Given the description of an element on the screen output the (x, y) to click on. 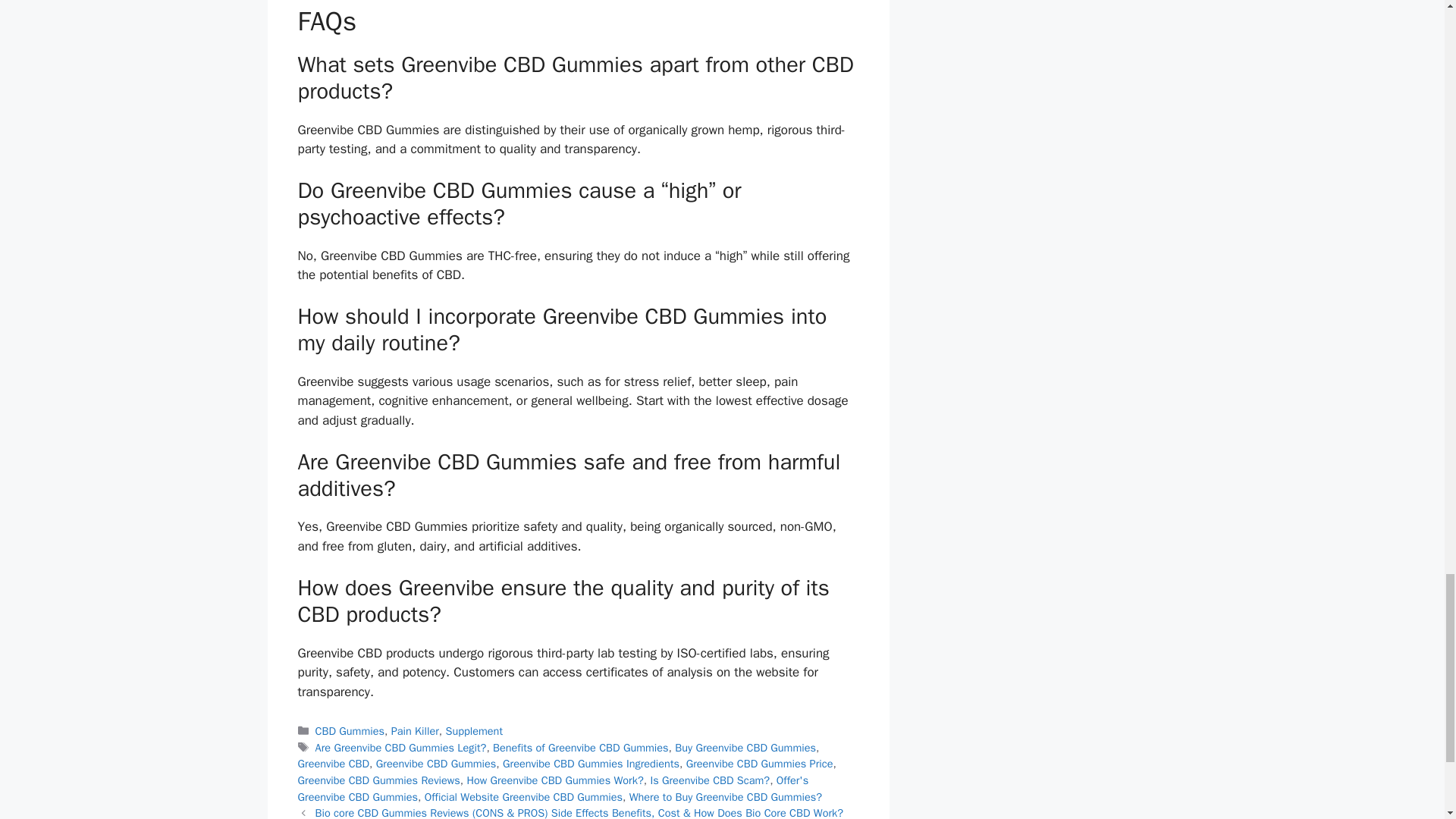
Where to Buy Greenvibe CBD Gummies? (725, 796)
Offer's Greenvibe CBD Gummies (552, 788)
Greenvibe CBD Gummies Reviews (378, 780)
Greenvibe CBD Gummies Ingredients (590, 763)
Buy Greenvibe CBD Gummies (745, 747)
Pain Killer (415, 730)
Greenvibe CBD Gummies (435, 763)
Supplement (473, 730)
Is Greenvibe CBD Scam? (709, 780)
Official Website Greenvibe CBD Gummies (524, 796)
